Given the description of an element on the screen output the (x, y) to click on. 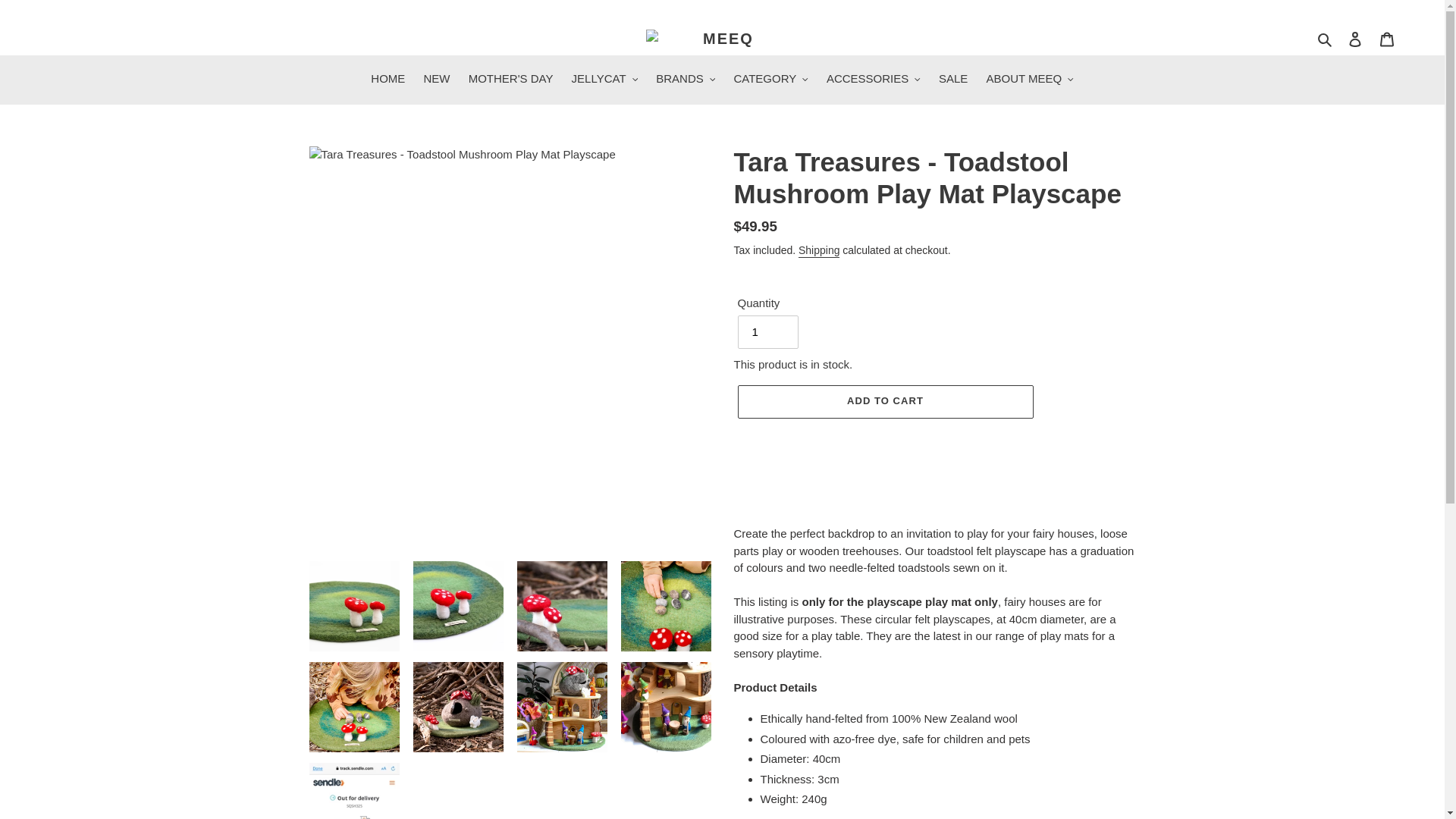
Search (1326, 38)
1 (766, 331)
Cart (1387, 38)
Log in (1355, 38)
